Given the description of an element on the screen output the (x, y) to click on. 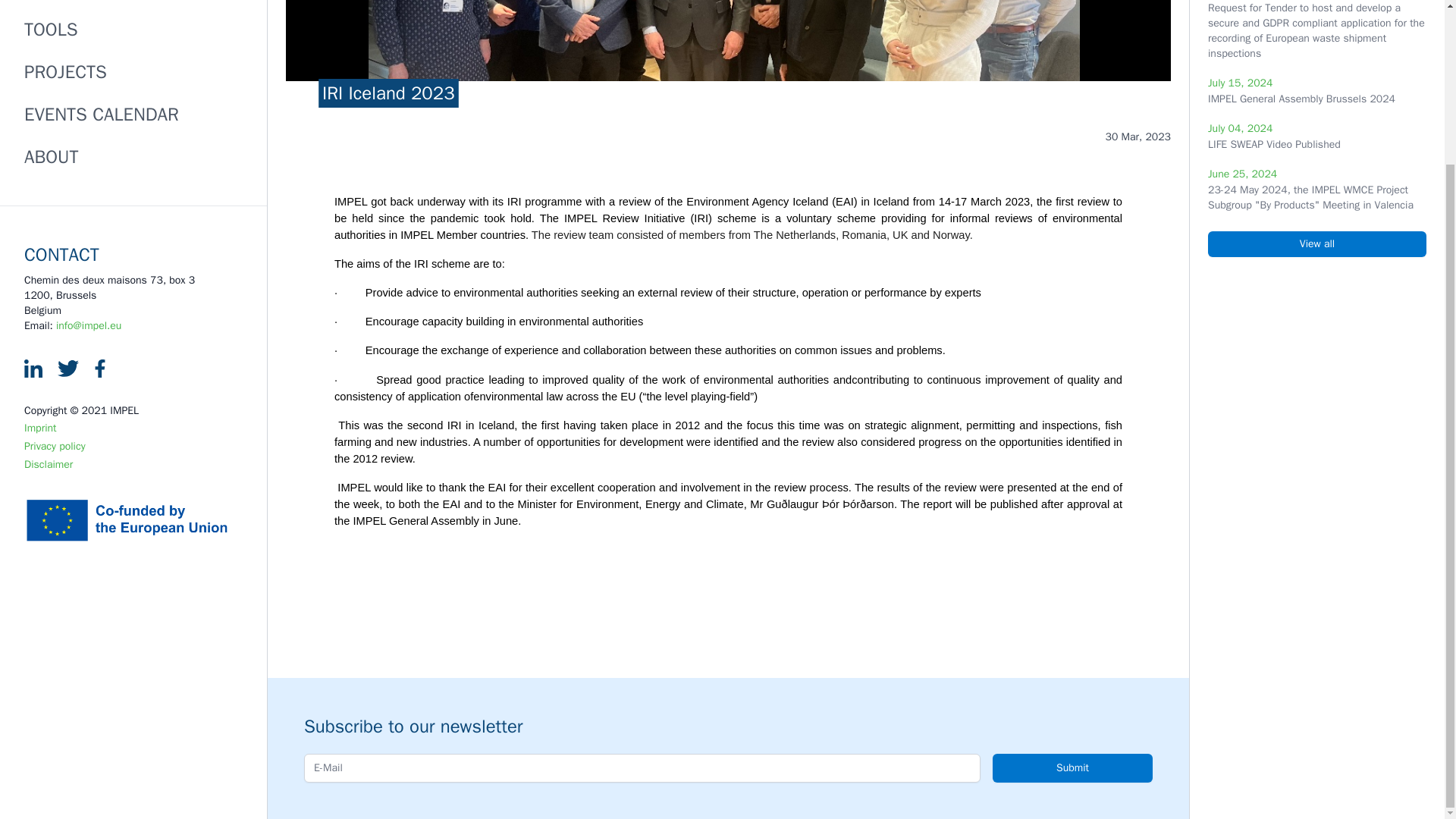
EVENTS CALENDAR (101, 114)
View all (1317, 243)
June 25, 2024 (1242, 173)
ABOUT (51, 156)
PROJECTS (65, 71)
TOOLS (51, 29)
Privacy policy (54, 445)
Submit (1072, 767)
Disclaimer (48, 463)
Imprint (40, 427)
July 04, 2024 (1240, 128)
July 15, 2024 (1240, 82)
